Given the description of an element on the screen output the (x, y) to click on. 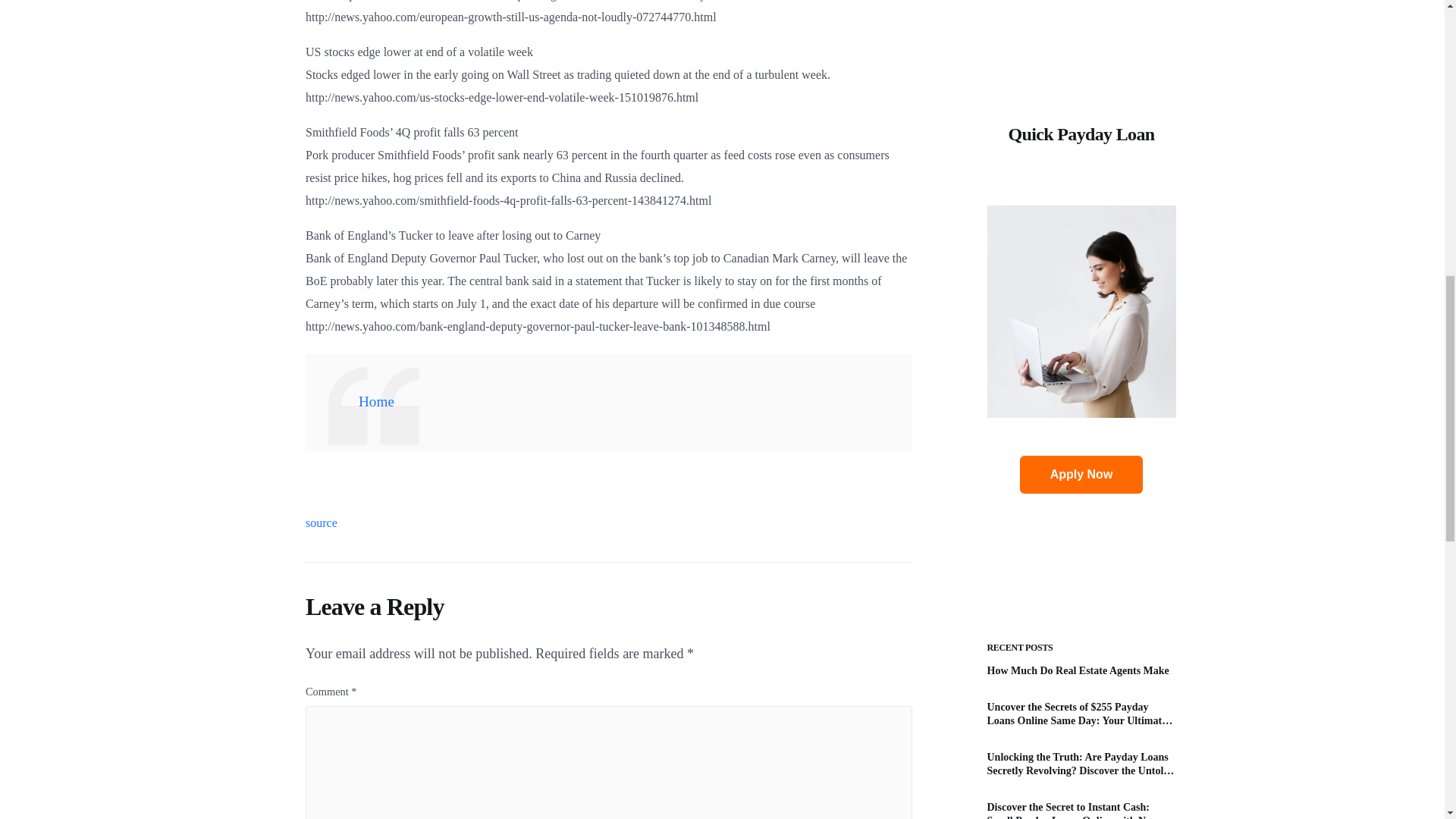
source (321, 522)
Home (376, 401)
Apply Now (1081, 164)
How Much Do Real Estate Agents Make (1081, 360)
